Given the description of an element on the screen output the (x, y) to click on. 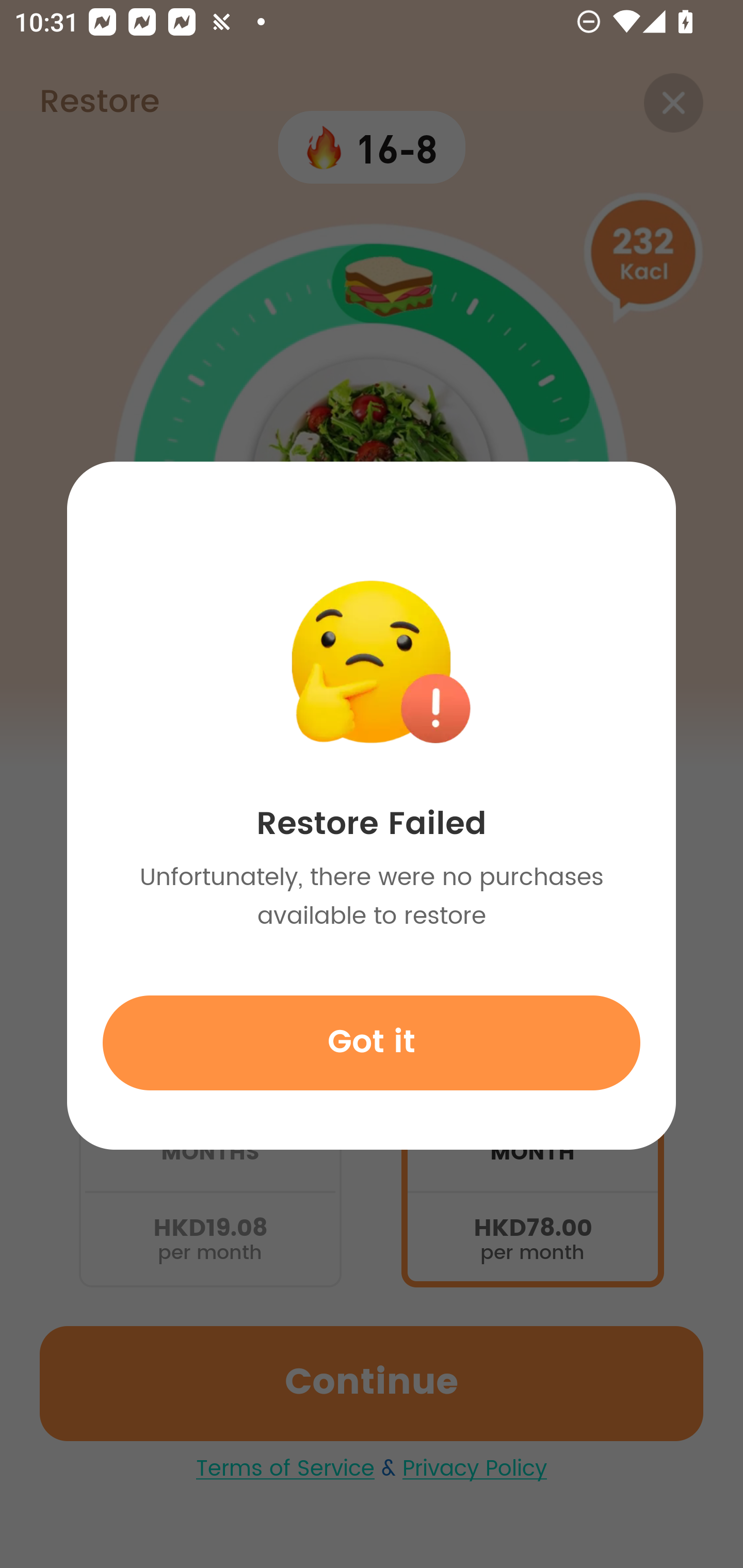
Got it (371, 1042)
